Given the description of an element on the screen output the (x, y) to click on. 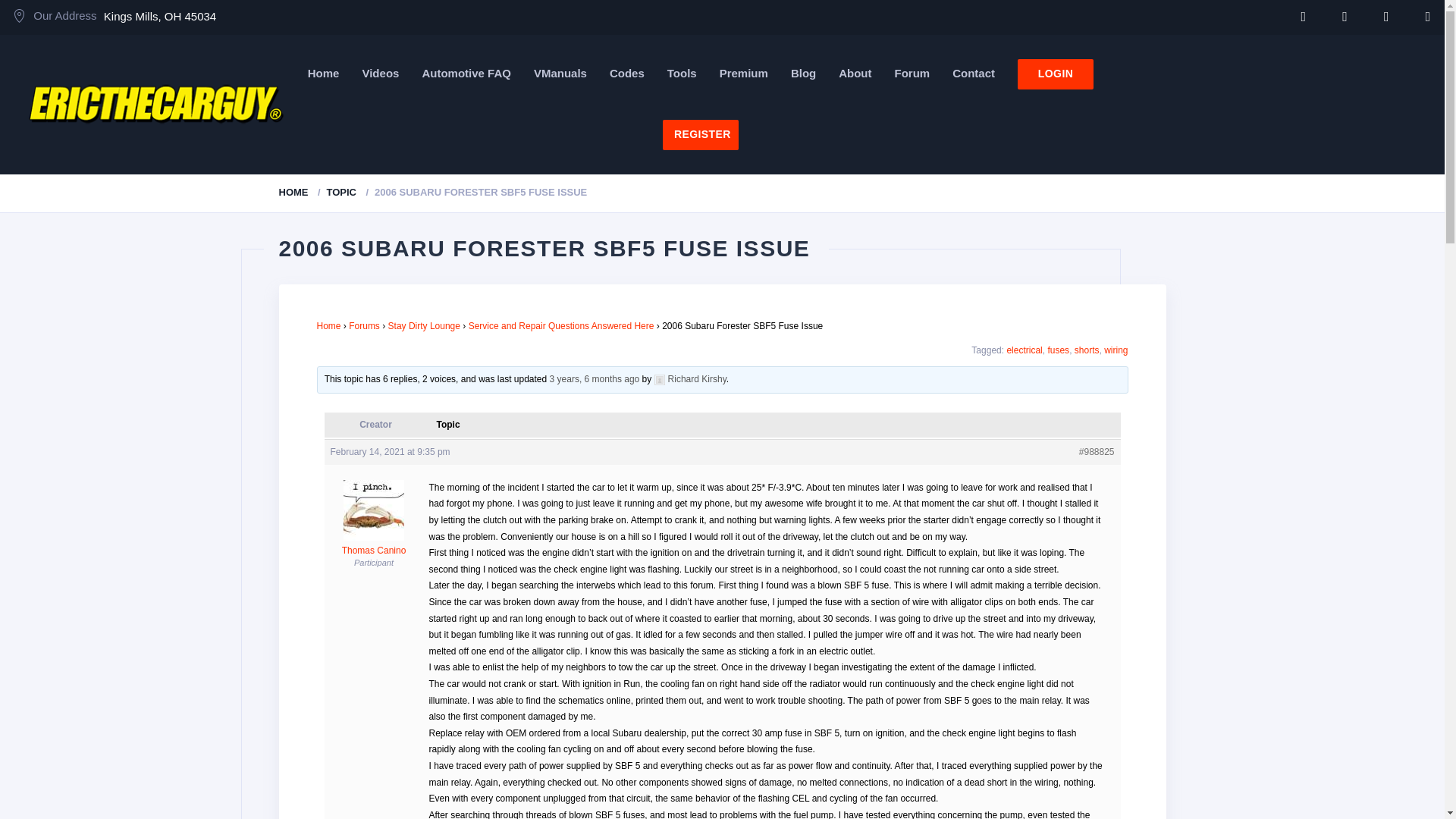
Blog (802, 73)
VManuals (560, 73)
View Thomas Canino's profile (373, 544)
Service and Repair Questions Answered Here (560, 326)
View Richard Kirshy's profile (689, 378)
Forums (364, 326)
shorts (1086, 349)
fuses (1057, 349)
Reply To: 2006 Subaru Forester SBF5 Fuse Issue (595, 378)
Home (323, 73)
